Given the description of an element on the screen output the (x, y) to click on. 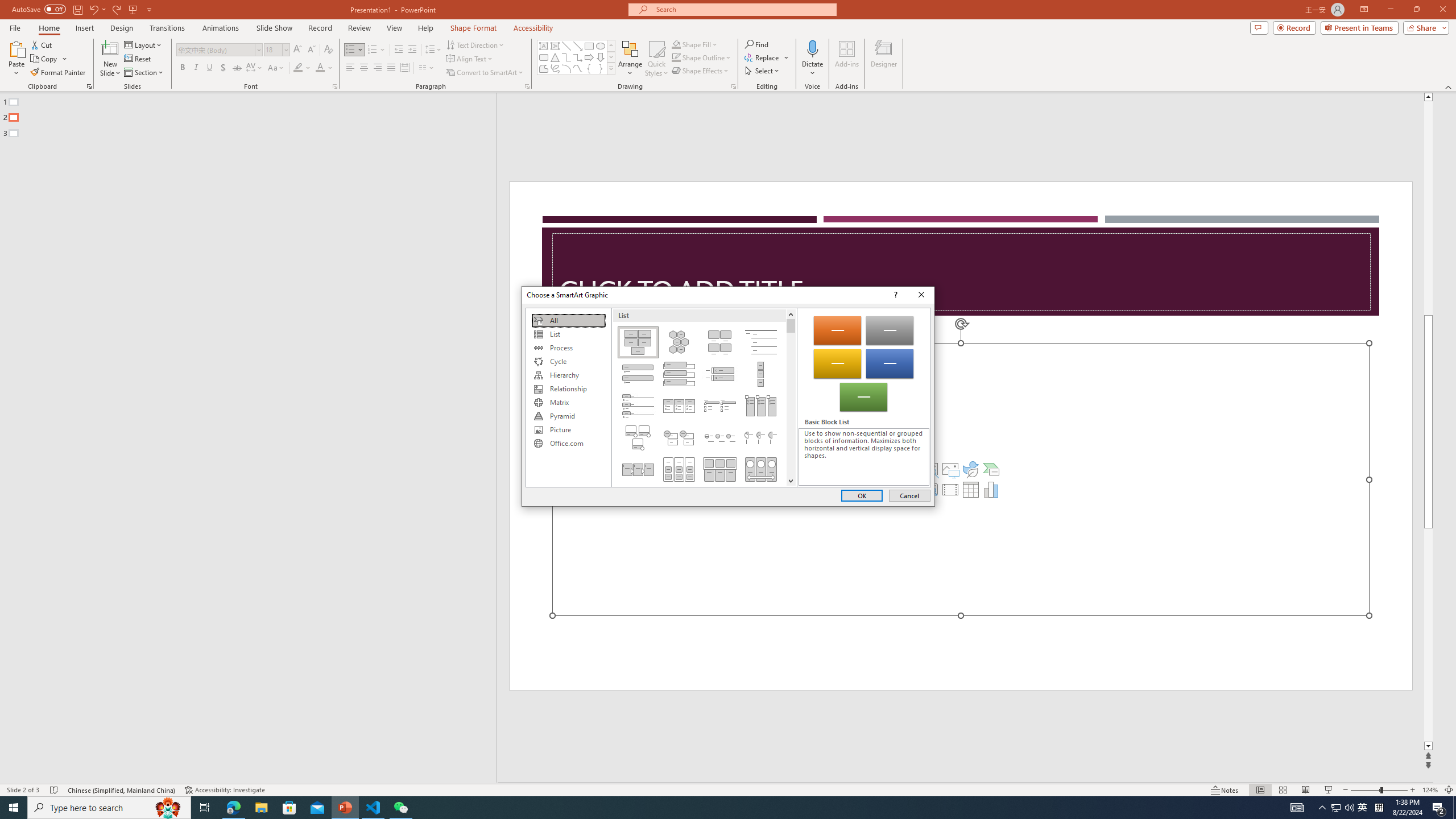
Bending Picture Accent List (637, 437)
